Given the description of an element on the screen output the (x, y) to click on. 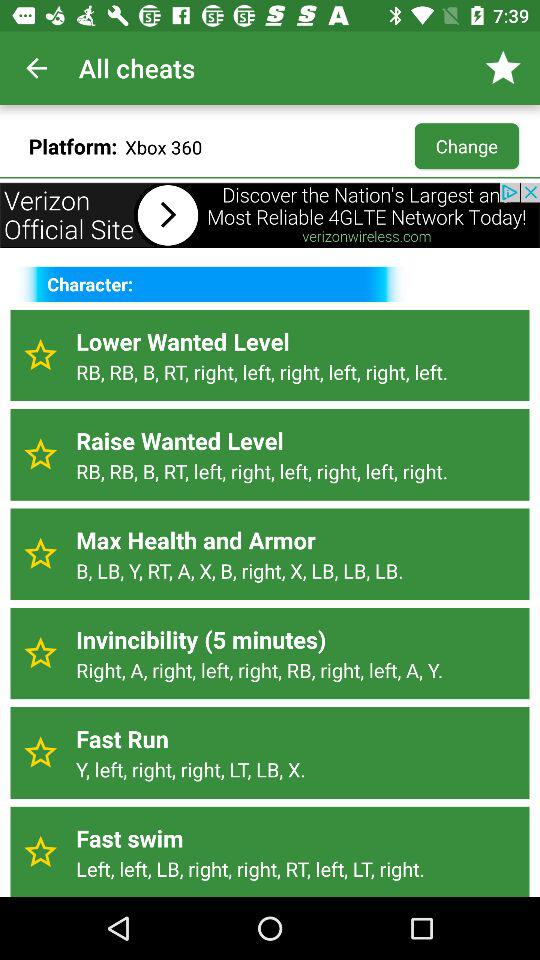
advertising bar (270, 215)
